Given the description of an element on the screen output the (x, y) to click on. 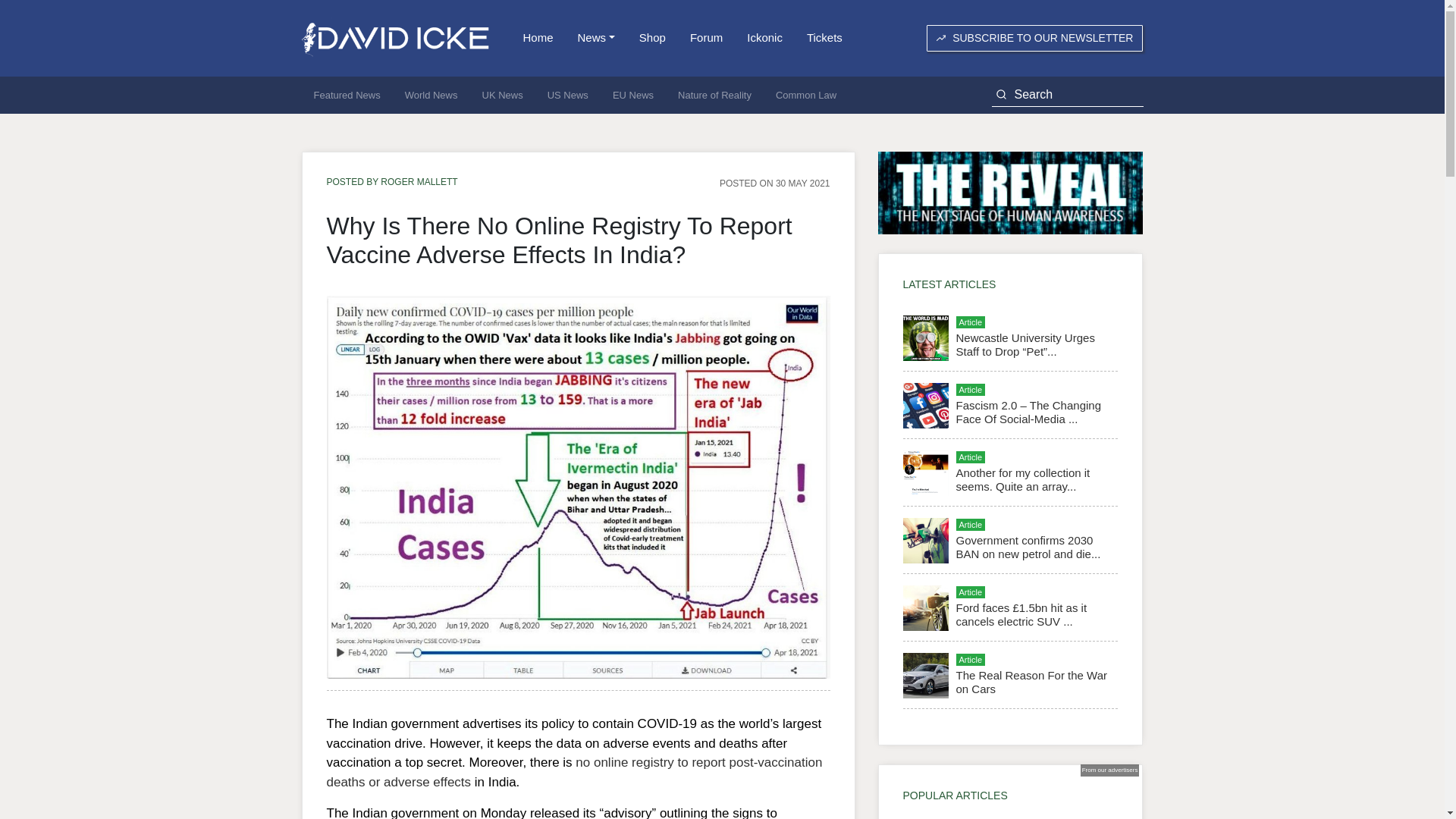
The Real Reason For the War on Cars (1030, 682)
EU News (632, 94)
Ickonic (764, 37)
News (596, 37)
Featured News (347, 94)
Another for my collection it seems. Quite an array now (1022, 479)
SUBSCRIBE TO OUR NEWSLETTER (1034, 38)
Home (538, 37)
POSTED ON 30 MAY 2021 (774, 182)
